Given the description of an element on the screen output the (x, y) to click on. 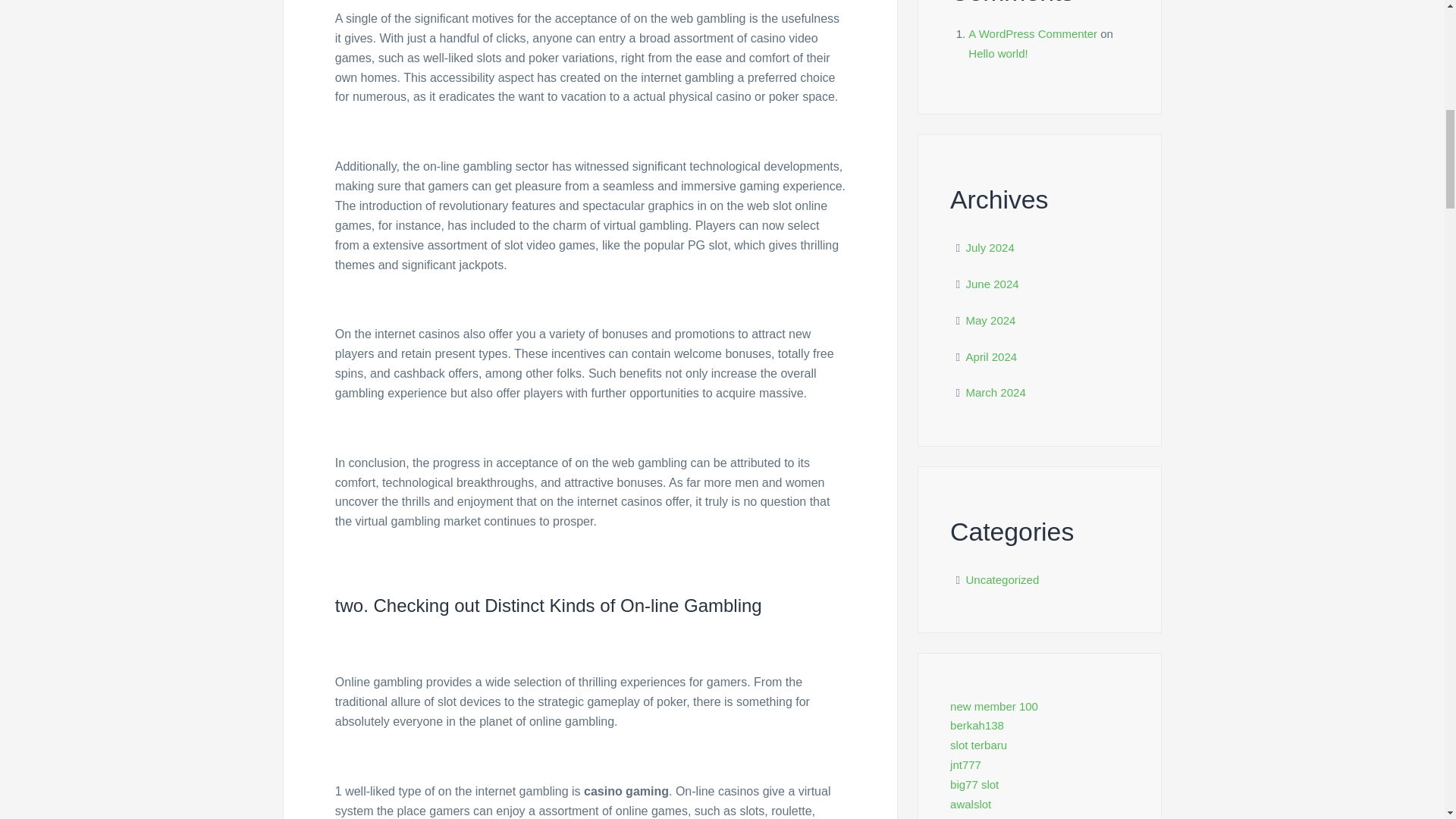
July 2024 (990, 246)
A WordPress Commenter (1032, 33)
jnt777 (965, 764)
Hello world! (997, 52)
slot terbaru (978, 744)
March 2024 (996, 391)
Uncategorized (1002, 579)
April 2024 (991, 356)
big77 slot (974, 784)
new member 100 (994, 706)
link alternatif browin77 (1006, 818)
awalslot (970, 803)
berkah138 (977, 725)
May 2024 (991, 319)
June 2024 (992, 283)
